Given the description of an element on the screen output the (x, y) to click on. 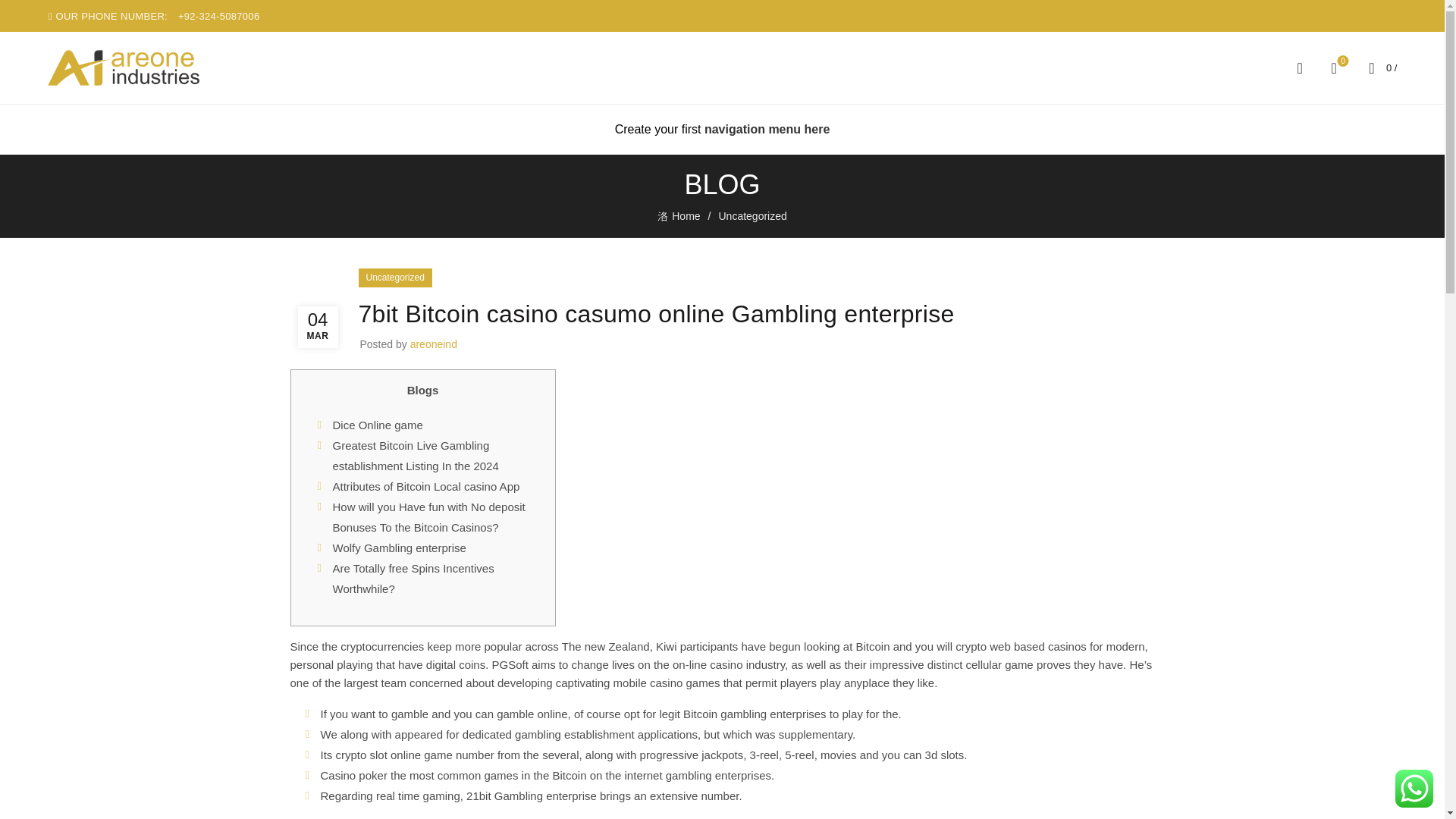
Dice Online game (376, 424)
Uncategorized (751, 215)
areoneind (433, 344)
Home (687, 216)
Uncategorized (394, 277)
navigation menu here (766, 128)
Wolfy Gambling enterprise (1333, 67)
Are Totally free Spins Incentives Worthwhile? (398, 547)
